Given the description of an element on the screen output the (x, y) to click on. 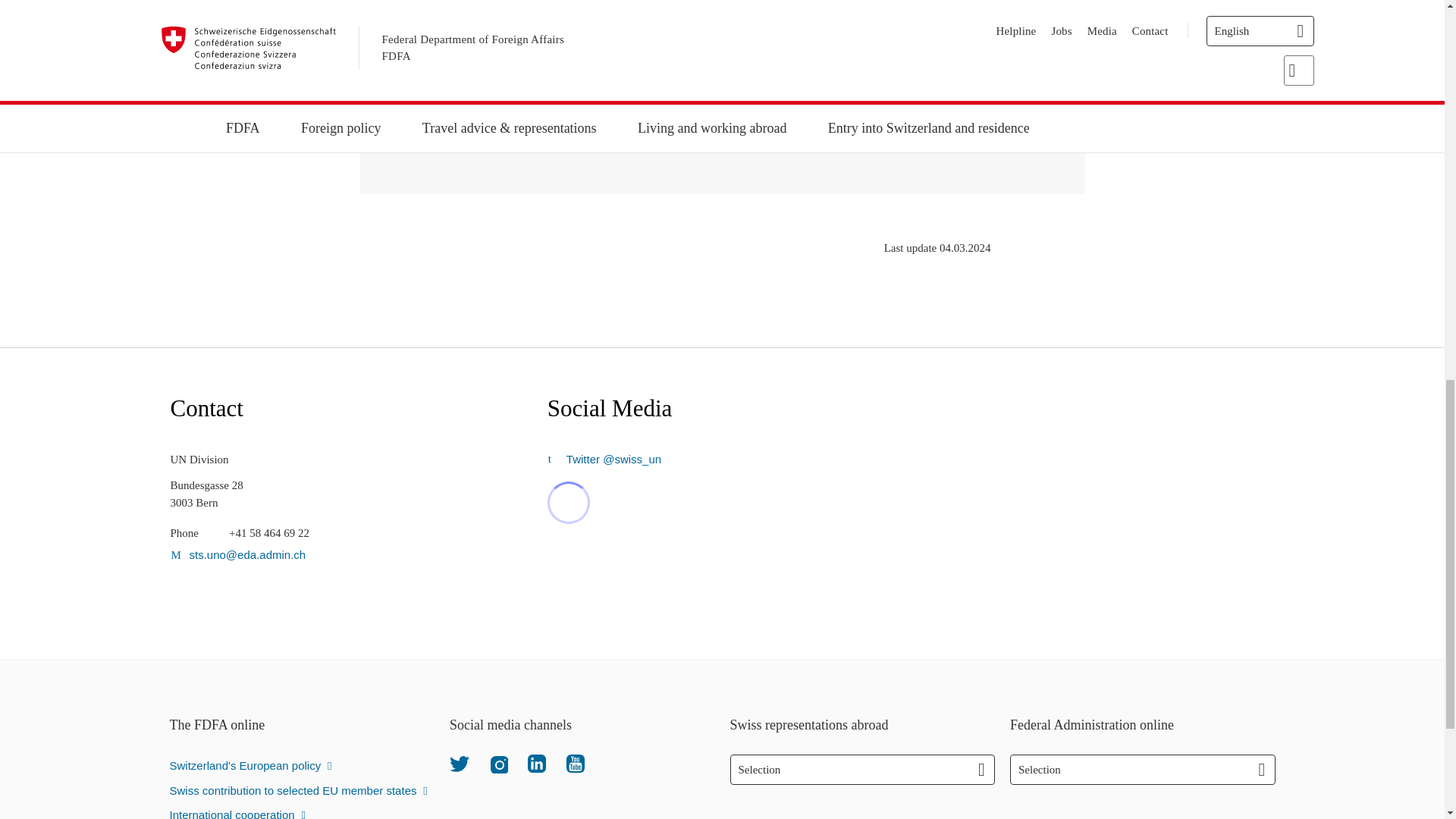
Twitter (458, 763)
Instagram (497, 763)
LinkedIn (537, 763)
